Given the description of an element on the screen output the (x, y) to click on. 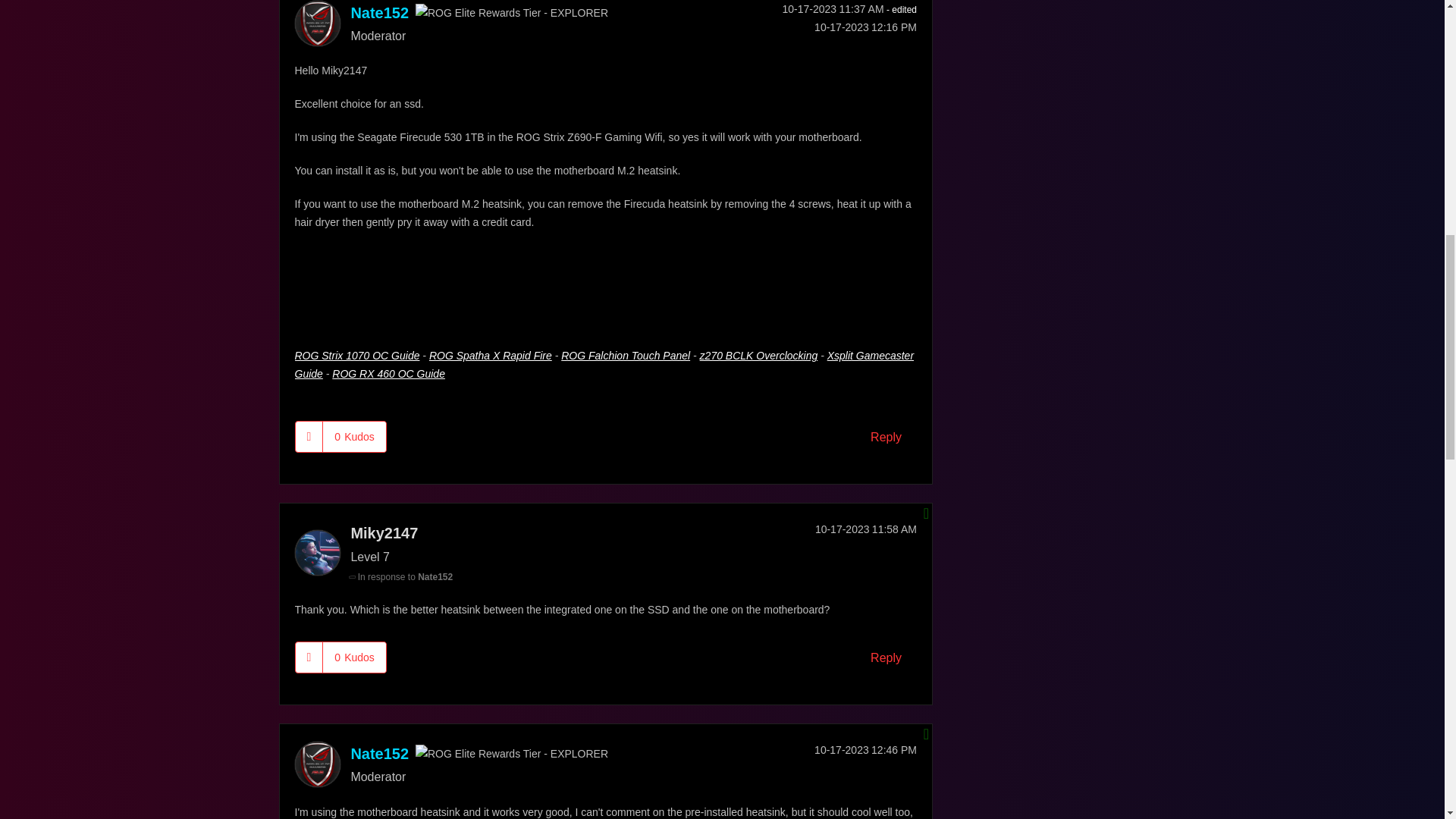
ROG Elite Rewards Tier - EXPLORER (511, 13)
The total number of kudos this post has received. (354, 436)
Nate152 (316, 22)
Miky2147 (316, 552)
Click here to give kudos to this post. (309, 436)
